Given the description of an element on the screen output the (x, y) to click on. 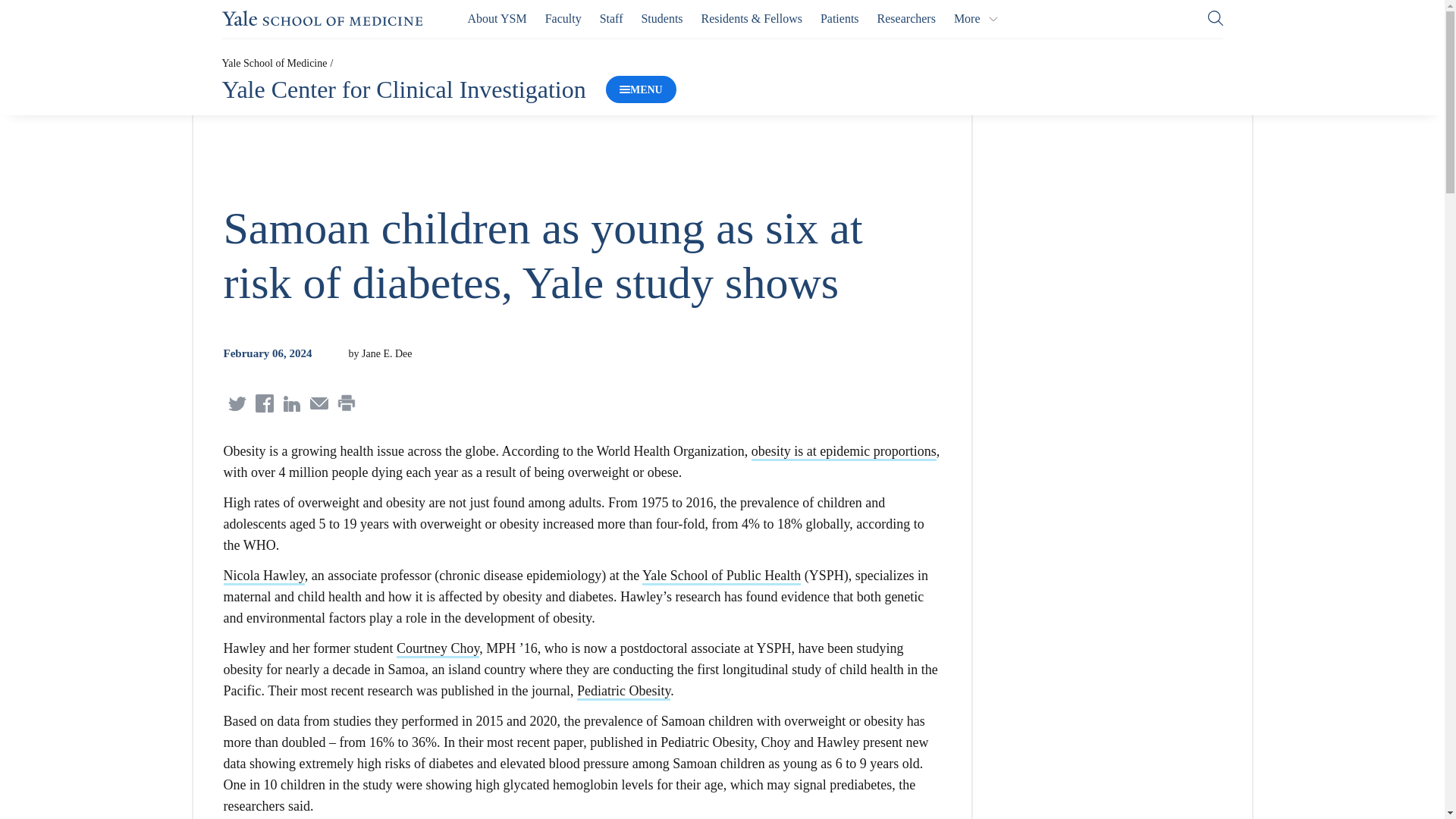
Patients (840, 18)
More (975, 18)
Faculty (562, 18)
MENU (641, 89)
Researchers (906, 18)
Yale Center for Clinical Investigation (403, 89)
Students (661, 18)
Yale School of Medicine (321, 18)
Yale School of Medicine (273, 62)
Yale School of Medicine (321, 17)
About YSM (497, 18)
Staff (611, 18)
